Given the description of an element on the screen output the (x, y) to click on. 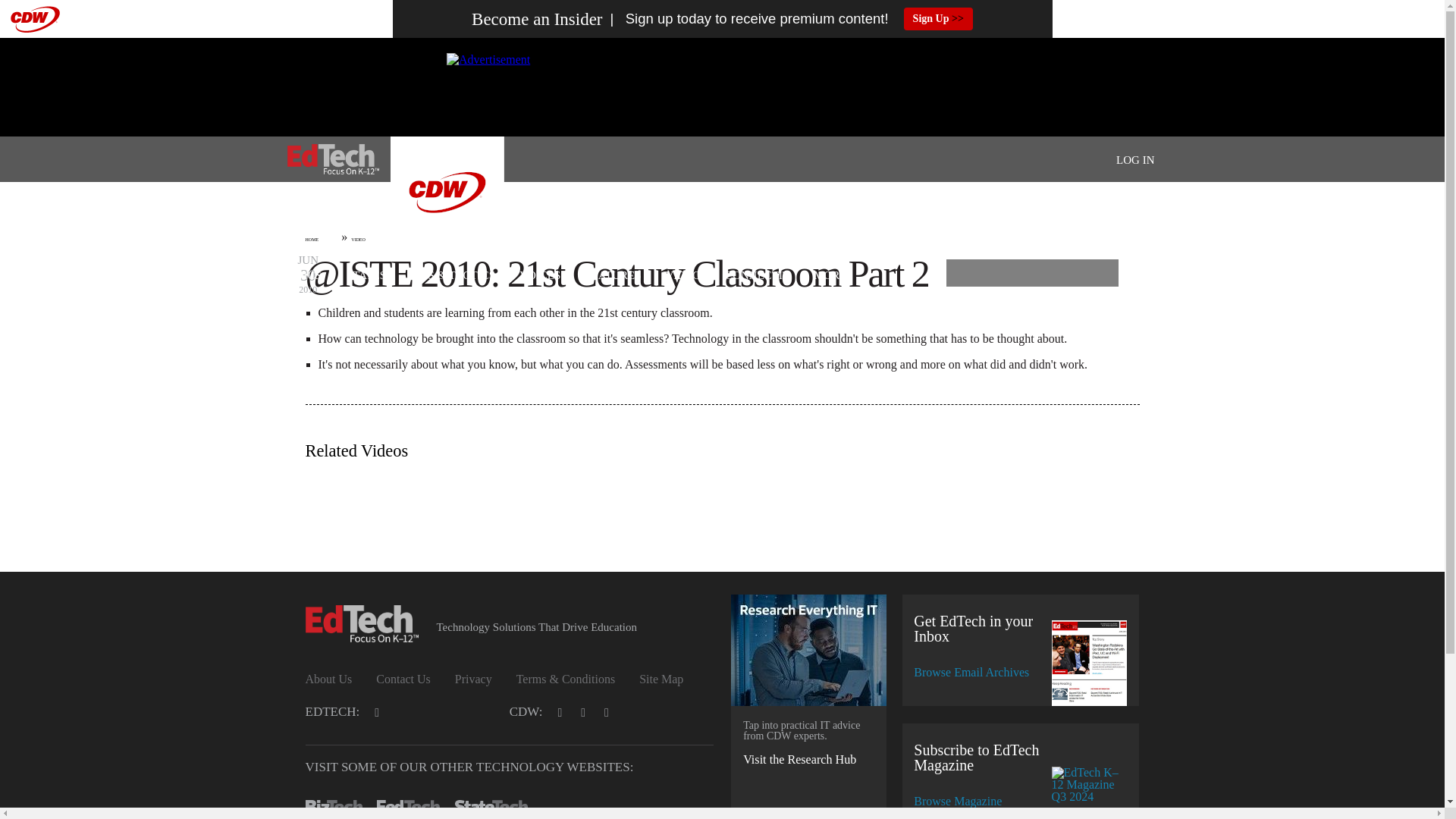
Home (332, 158)
Search (1097, 278)
Sign up today to receive premium content! (745, 19)
VOICES (539, 275)
Become an Insider (536, 18)
advertisement (721, 87)
Search (1097, 278)
STATES (365, 275)
User menu (1135, 160)
Sign Up (938, 18)
FEATURES (612, 275)
LOG IN (1135, 159)
CDW (446, 244)
